Given the description of an element on the screen output the (x, y) to click on. 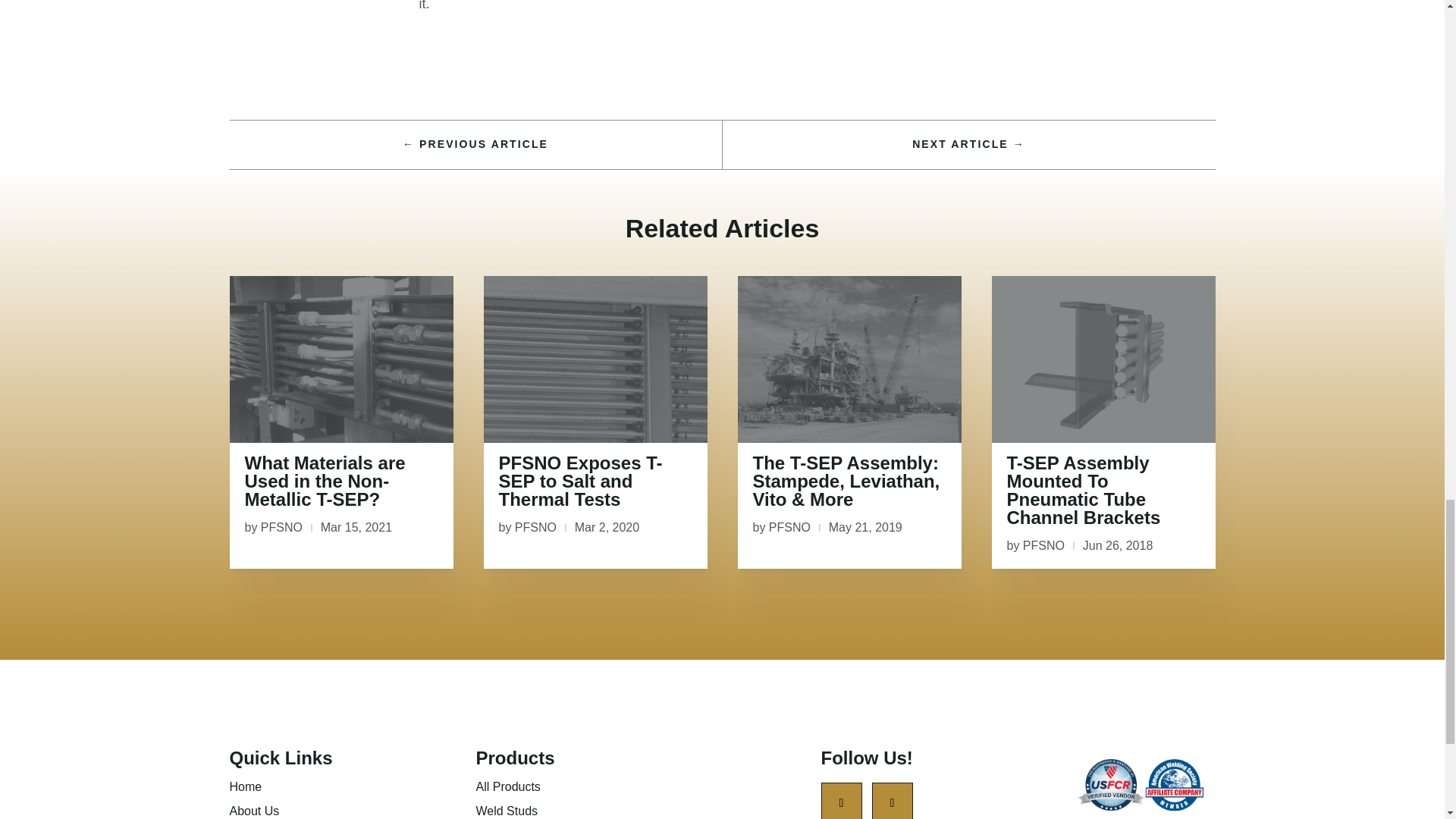
Posts by PFSNO (789, 526)
Posts by PFSNO (281, 526)
PFS Certifications (1141, 787)
Posts by PFSNO (535, 526)
Follow on Facebook (841, 800)
Posts by PFSNO (1043, 545)
Follow on X (892, 800)
